Given the description of an element on the screen output the (x, y) to click on. 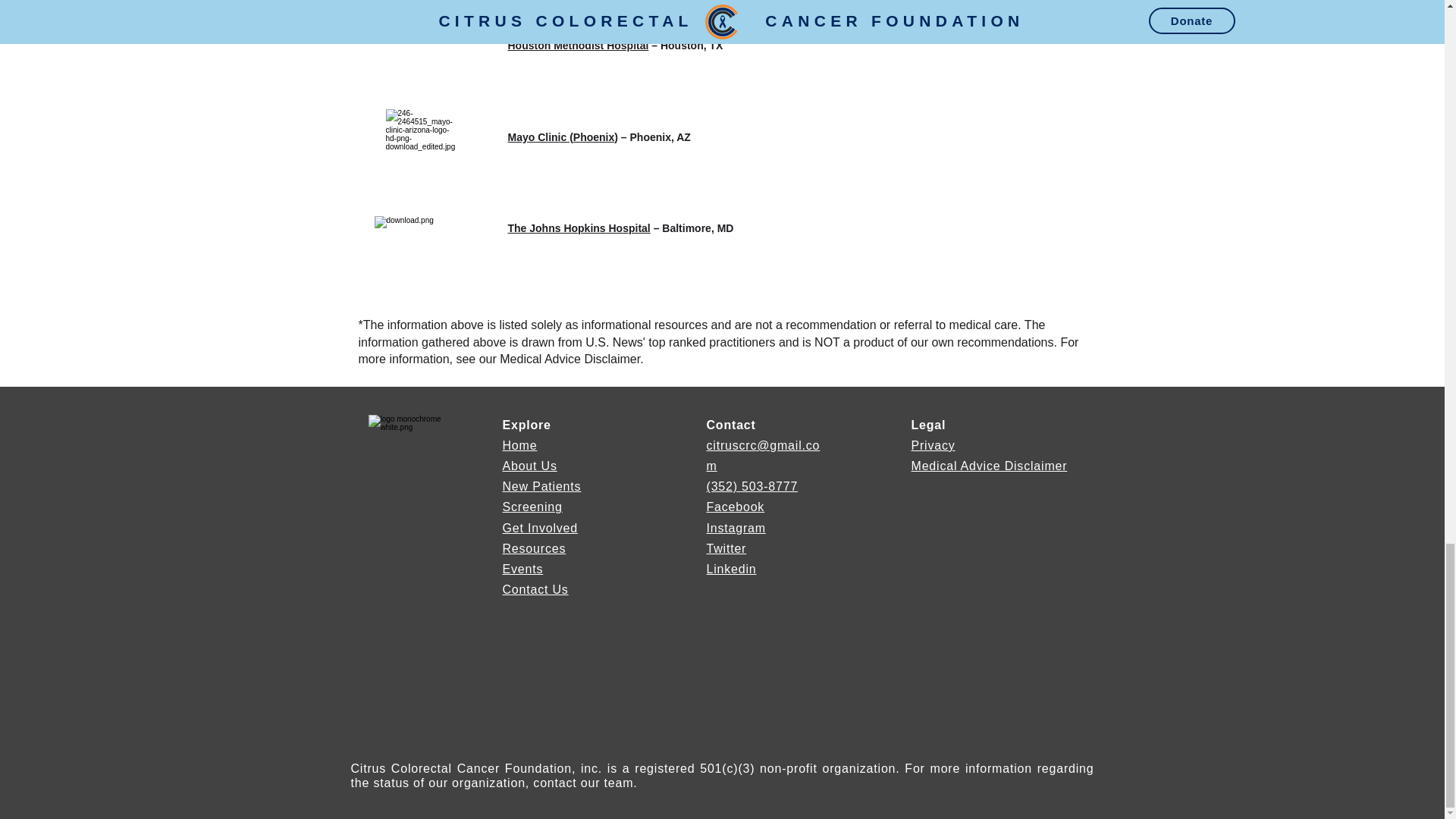
Twitter (726, 548)
Medical Advice Disclaimer (989, 465)
Houston Methodist Hospital (578, 45)
New Patients (541, 486)
Resources (534, 548)
Privacy (933, 445)
Linkedin (731, 568)
Events (522, 568)
Instagram (735, 527)
Contact Us (534, 589)
